Given the description of an element on the screen output the (x, y) to click on. 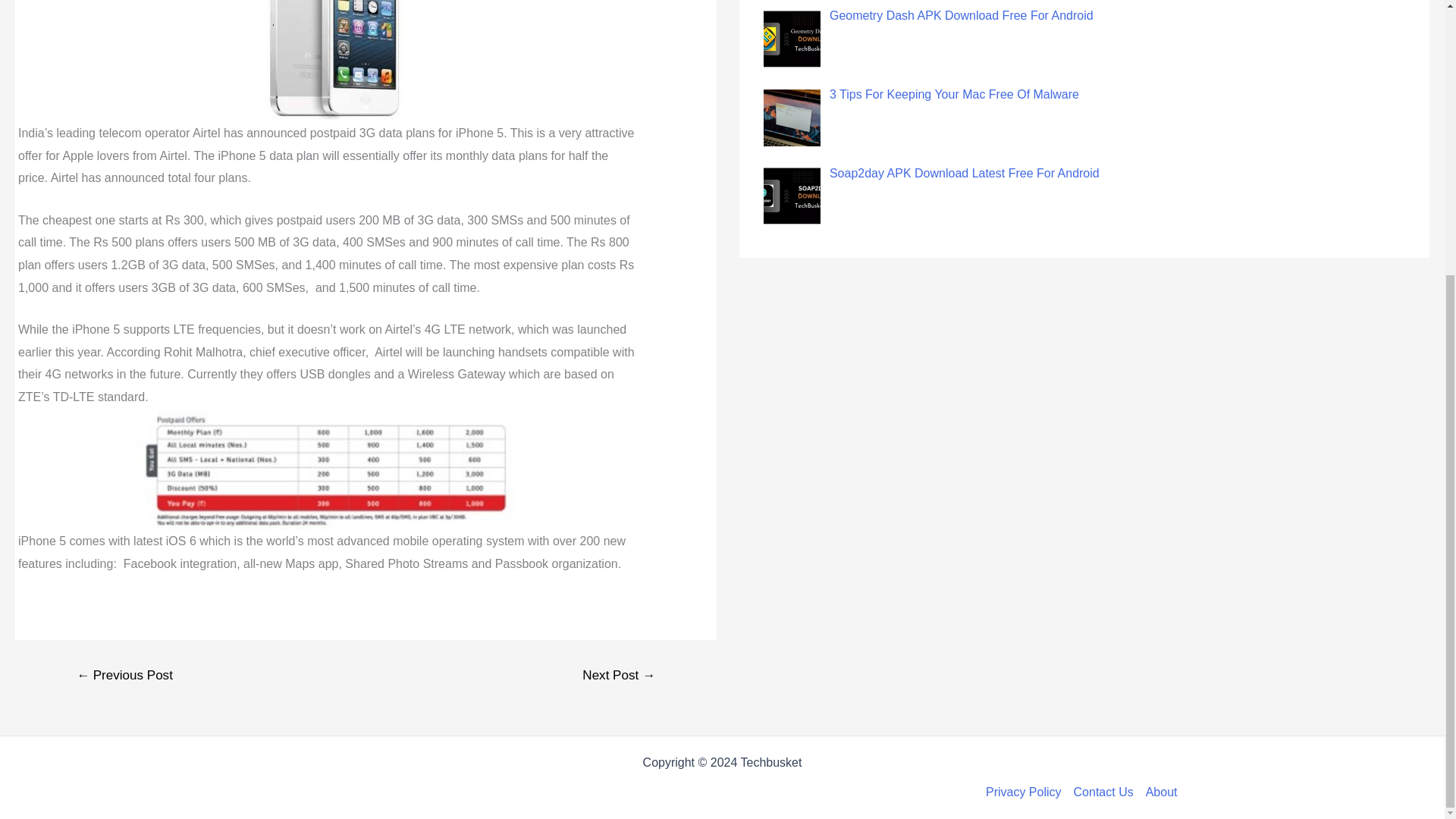
Soap2day APK Download Latest Free For Android (964, 173)
3 Tips For Keeping Your Mac Free Of Malware (953, 93)
Contact Us (1103, 792)
Geometry Dash APK Download Free For Android (961, 15)
iphone-5-white (326, 61)
Privacy Policy (1026, 792)
Airtel-iPhone-5-Postpaid-Plans (326, 468)
